Given the description of an element on the screen output the (x, y) to click on. 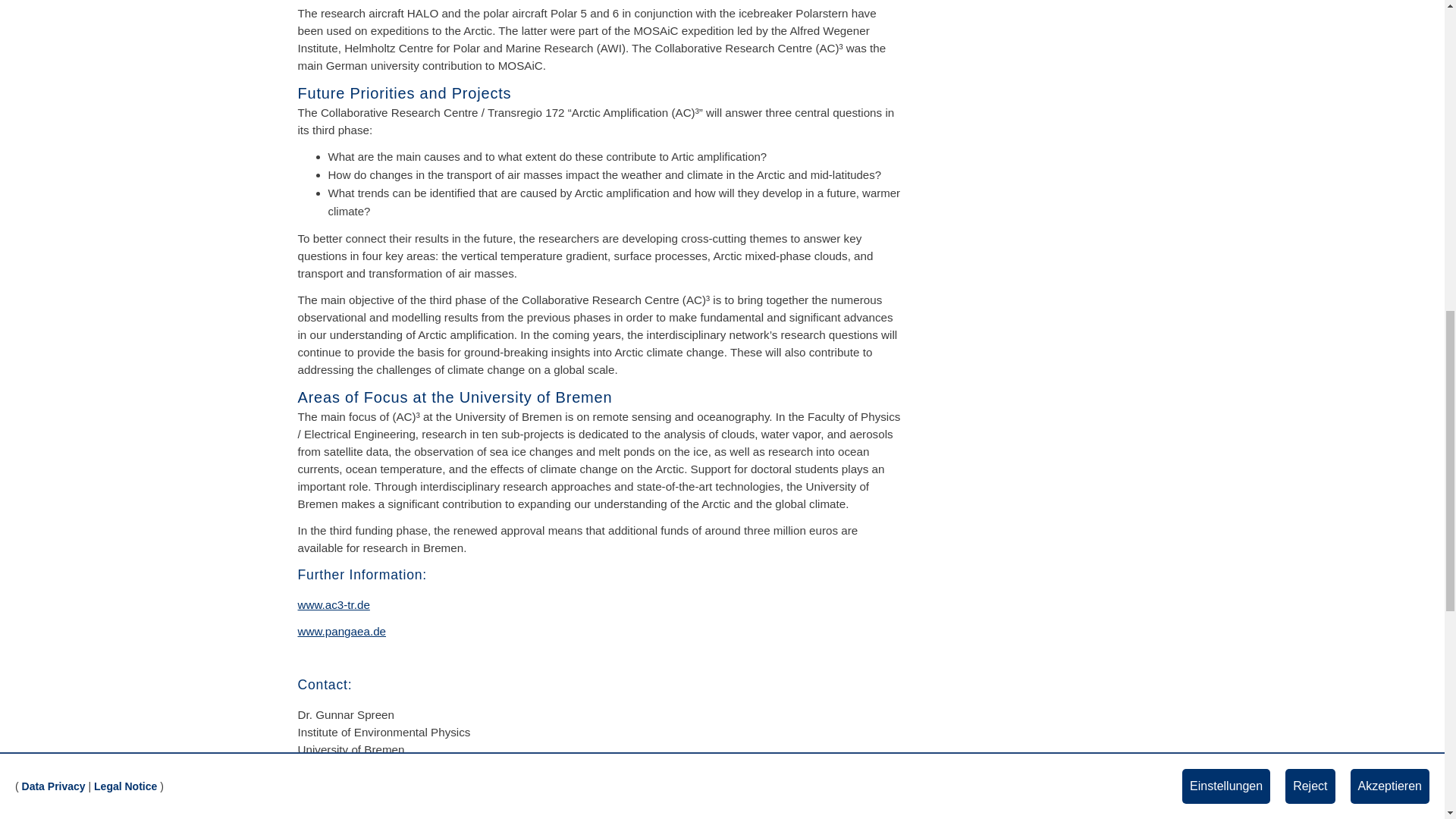
Opens a window for sending an e-mail (413, 784)
